Given the description of an element on the screen output the (x, y) to click on. 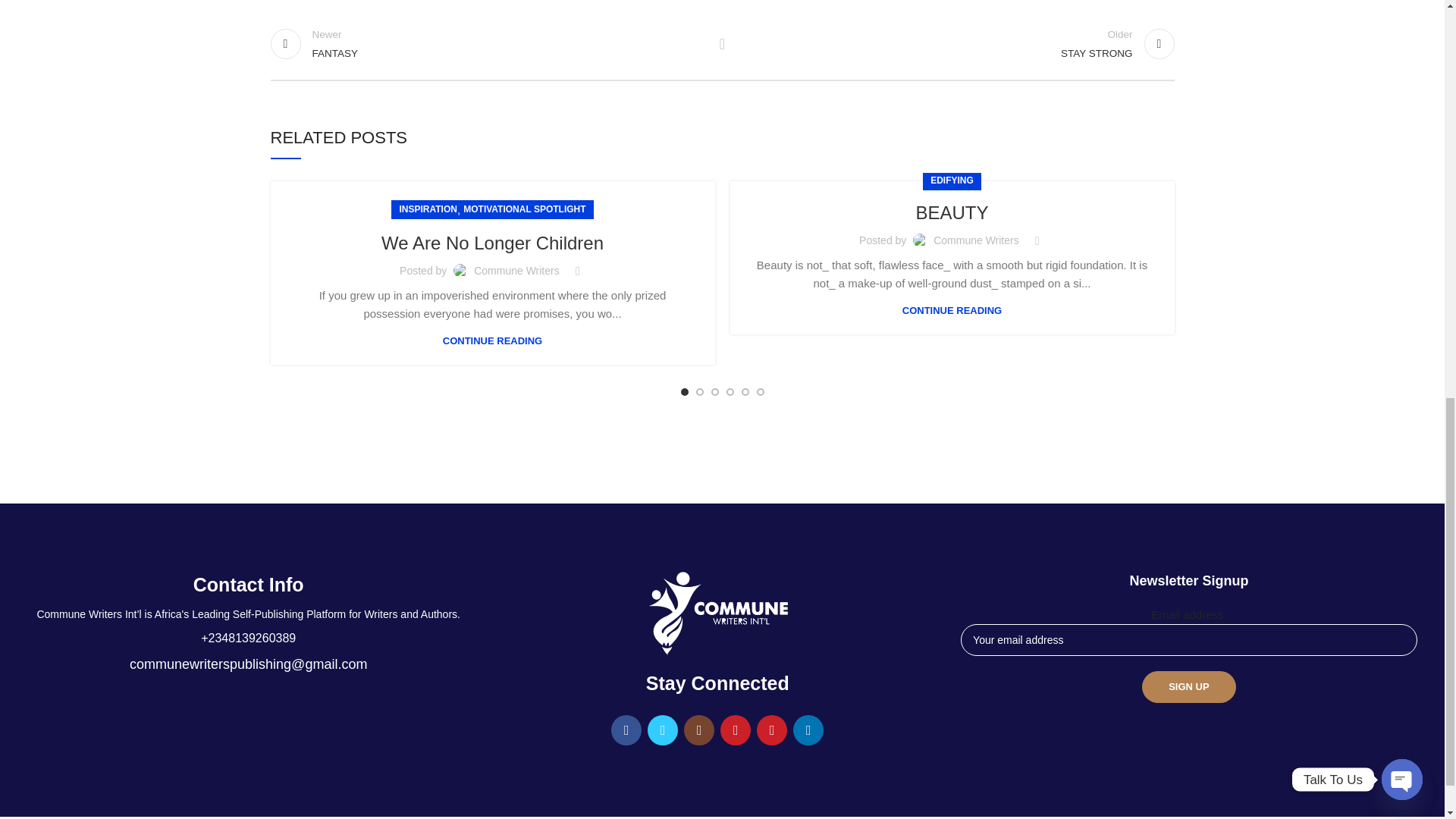
MOTIVATIONAL SPOTLIGHT (488, 43)
Sign up (524, 209)
We Are No Longer Children (955, 43)
Back to list (1187, 686)
INSPIRATION (492, 242)
